Given the description of an element on the screen output the (x, y) to click on. 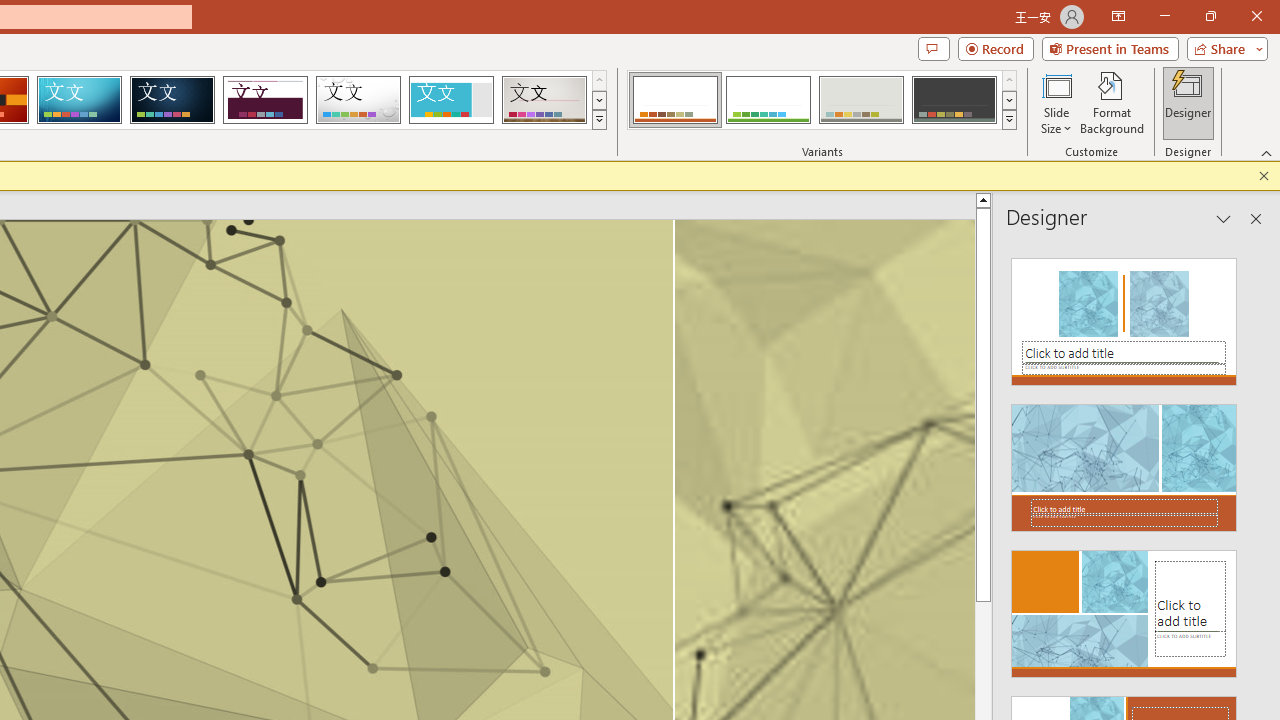
Gallery (544, 100)
Frame (450, 100)
AutomationID: ThemeVariantsGallery (822, 99)
Variants (1009, 120)
Retrospect Variant 2 (768, 100)
Droplet (358, 100)
